Given the description of an element on the screen output the (x, y) to click on. 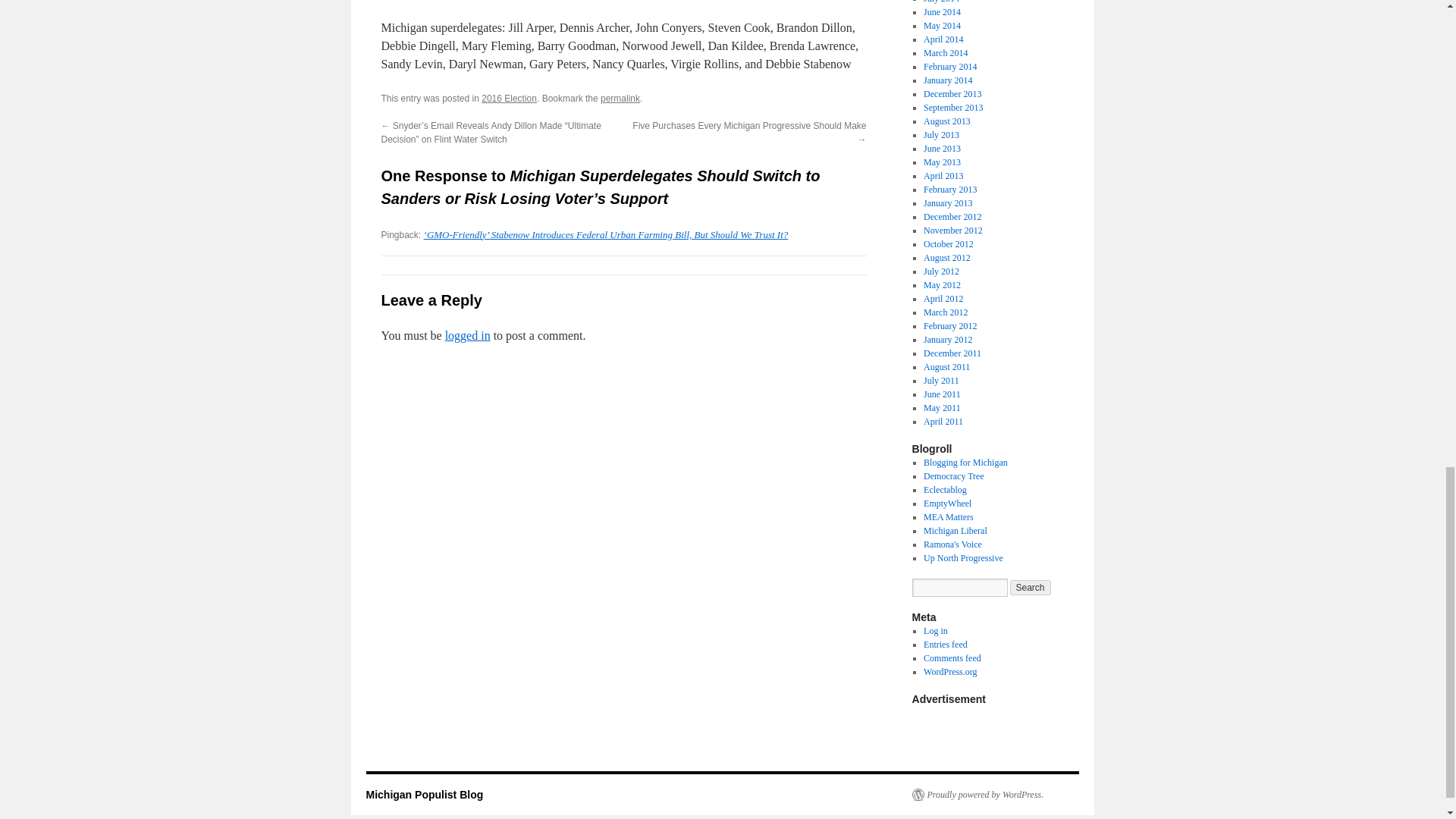
Michigan Populist Blog (424, 794)
permalink (619, 98)
EmptyWheel blog (947, 502)
Semantic Personal Publishing Platform (977, 794)
logged in (467, 335)
2016 Election (509, 98)
Search (1030, 587)
